Given the description of an element on the screen output the (x, y) to click on. 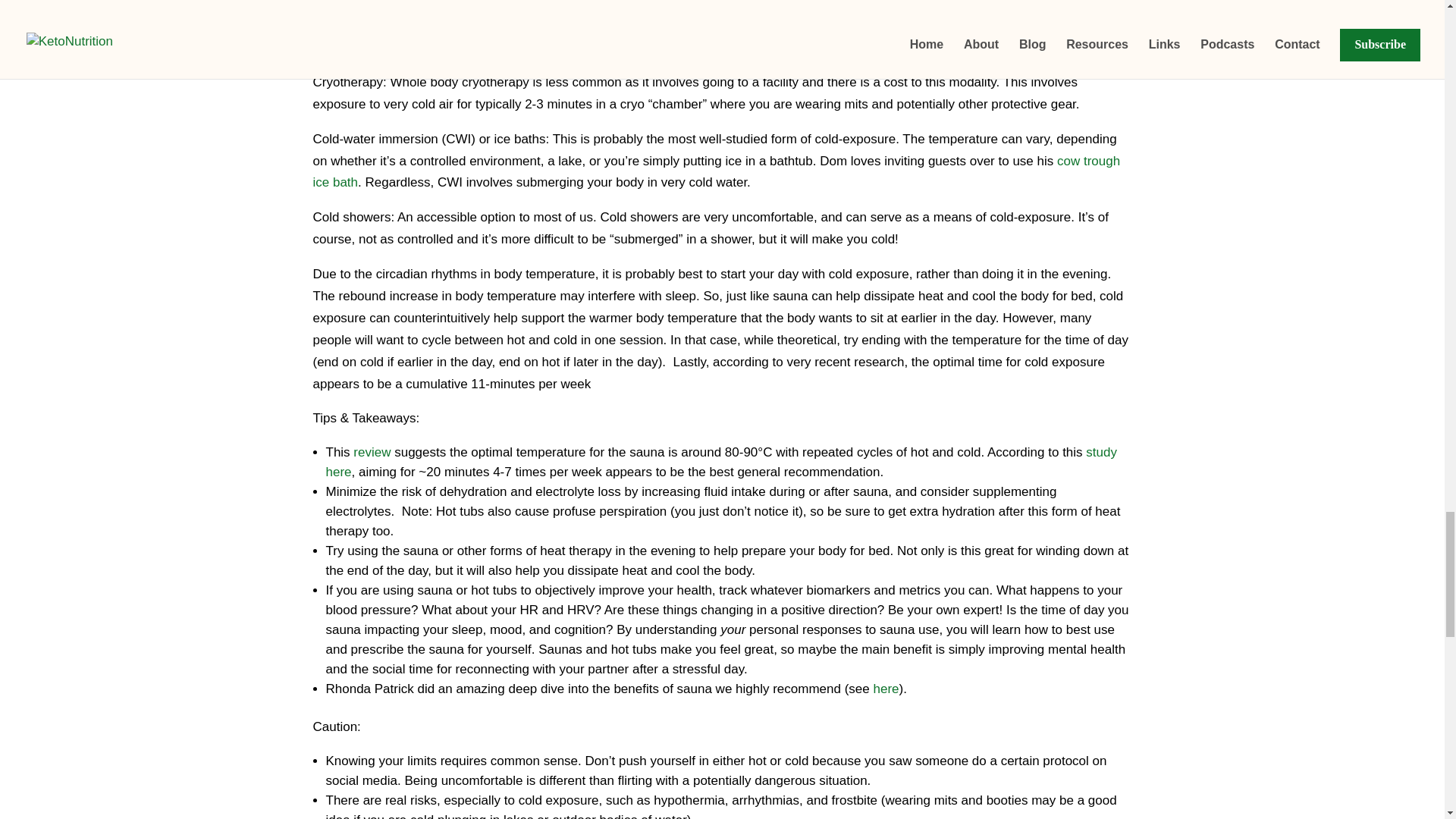
study here (721, 462)
review (371, 452)
here (886, 688)
cow trough ice bath (716, 171)
